Given the description of an element on the screen output the (x, y) to click on. 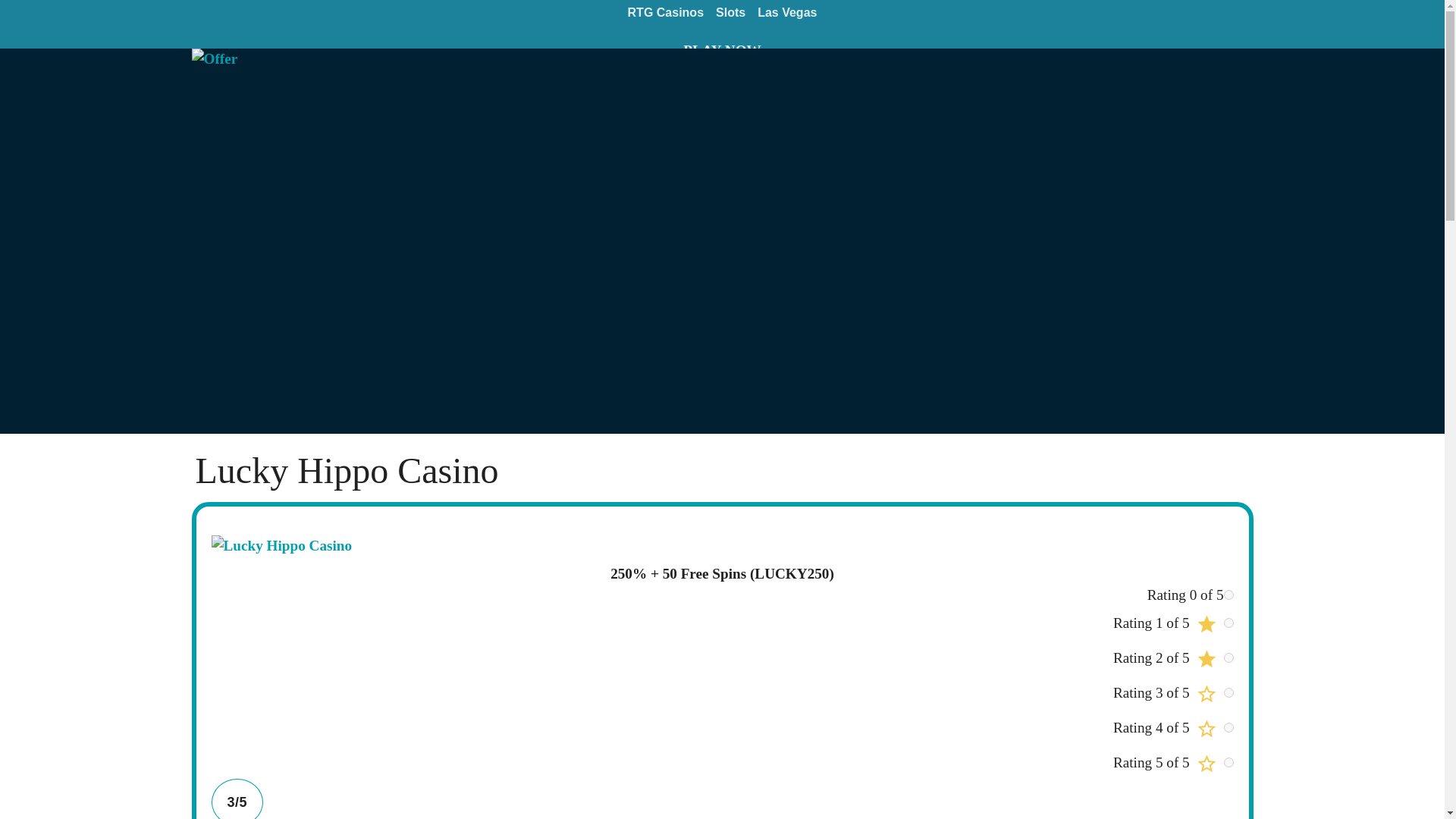
Las Vegas (786, 15)
1 (1228, 623)
4 (1228, 727)
RTG Casinos (665, 15)
3 (1228, 692)
0 (1228, 594)
PLAY NOW (722, 50)
2 (1228, 657)
Slots (730, 15)
5 (1228, 762)
